Given the description of an element on the screen output the (x, y) to click on. 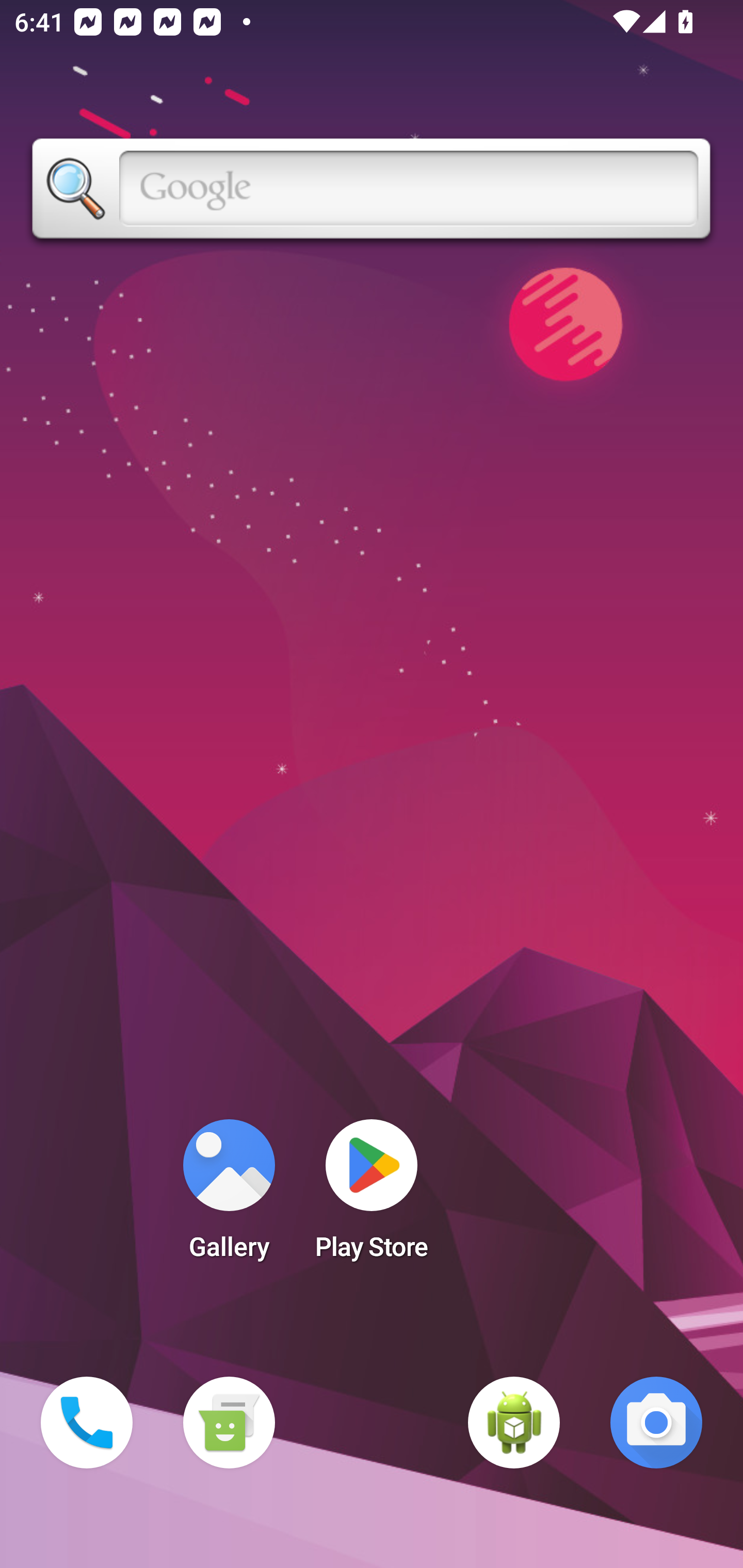
Gallery (228, 1195)
Play Store (371, 1195)
Phone (86, 1422)
Messaging (228, 1422)
WebView Browser Tester (513, 1422)
Camera (656, 1422)
